Given the description of an element on the screen output the (x, y) to click on. 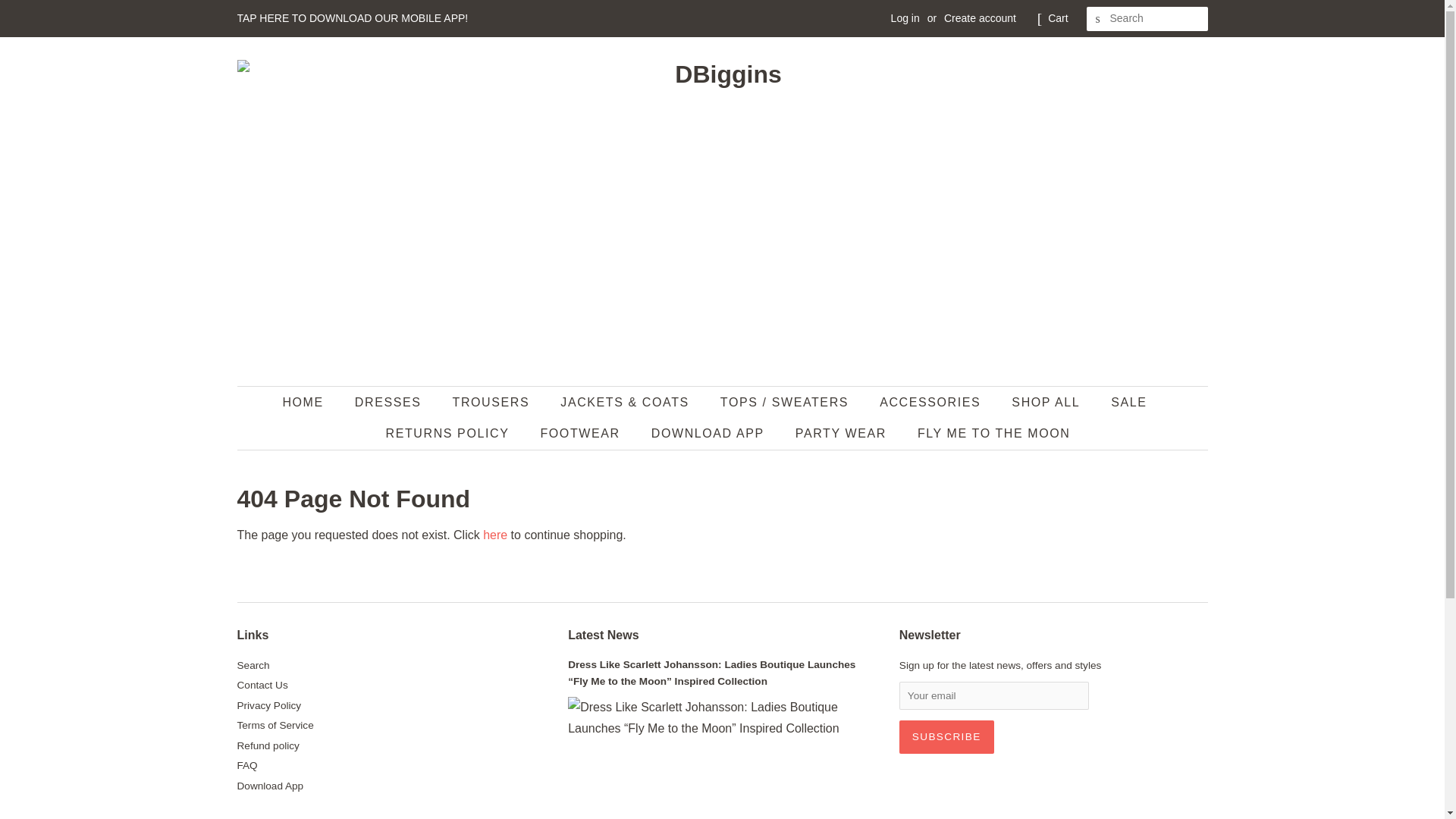
Log in (905, 18)
SHOP ALL (1047, 401)
Create account (979, 18)
TAP HERE TO DOWNLOAD OUR MOBILE APP! (351, 18)
DRESSES (389, 401)
TROUSERS (492, 401)
Subscribe (946, 736)
DOWNLOAD APP (709, 432)
FOOTWEAR (581, 432)
HOME (309, 401)
